Given the description of an element on the screen output the (x, y) to click on. 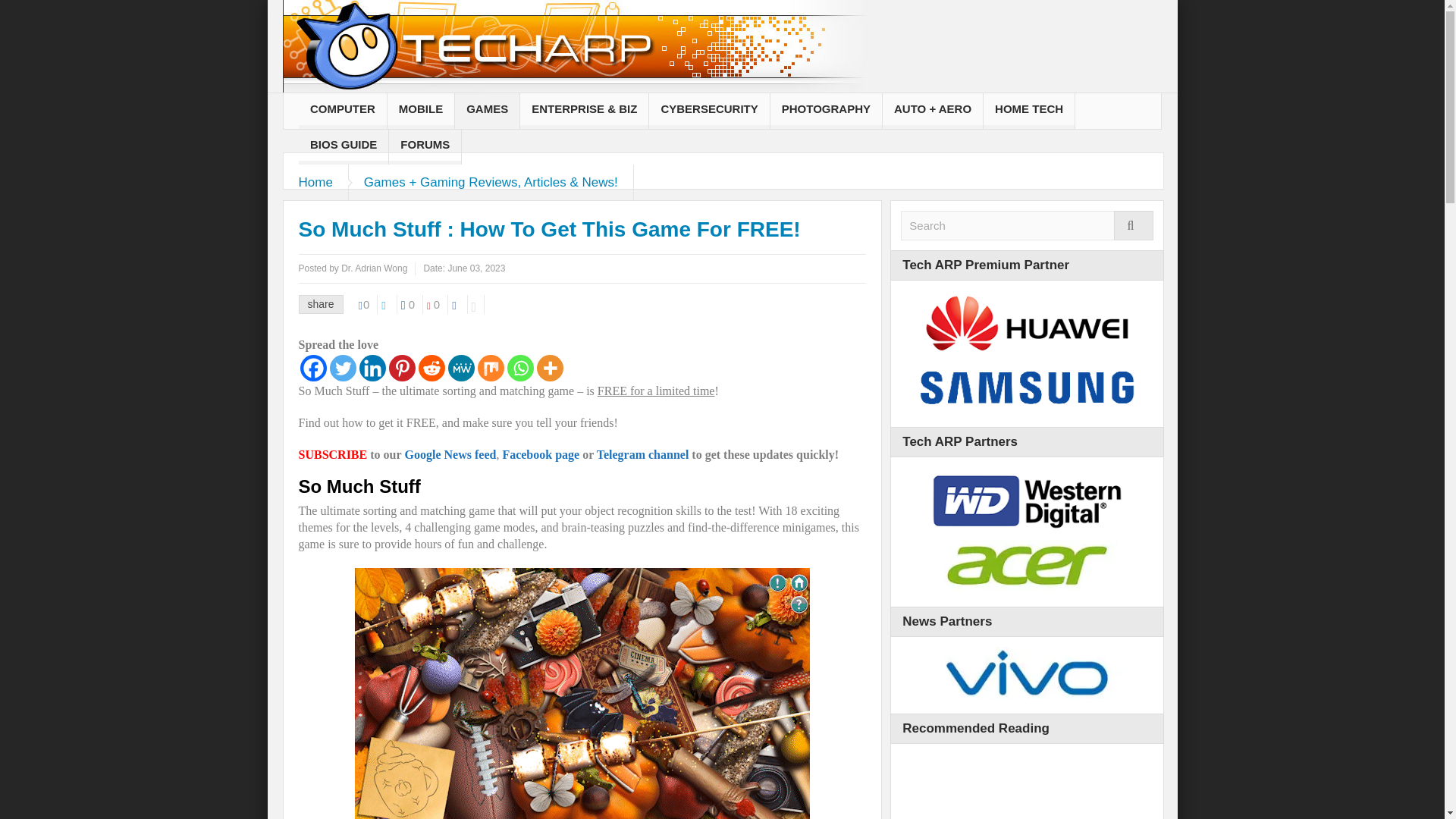
GAMES (486, 110)
Reddit (432, 367)
Search (1027, 225)
Search (1027, 225)
0 (437, 303)
Dr. Adrian Wong (373, 267)
PHOTOGRAPHY (826, 110)
MeWe (460, 367)
Tech ARP (574, 55)
Facebook (312, 367)
Whatsapp (519, 367)
Twitter (342, 367)
CYBERSECURITY (708, 110)
More (550, 367)
HOME TECH (1029, 110)
